Given the description of an element on the screen output the (x, y) to click on. 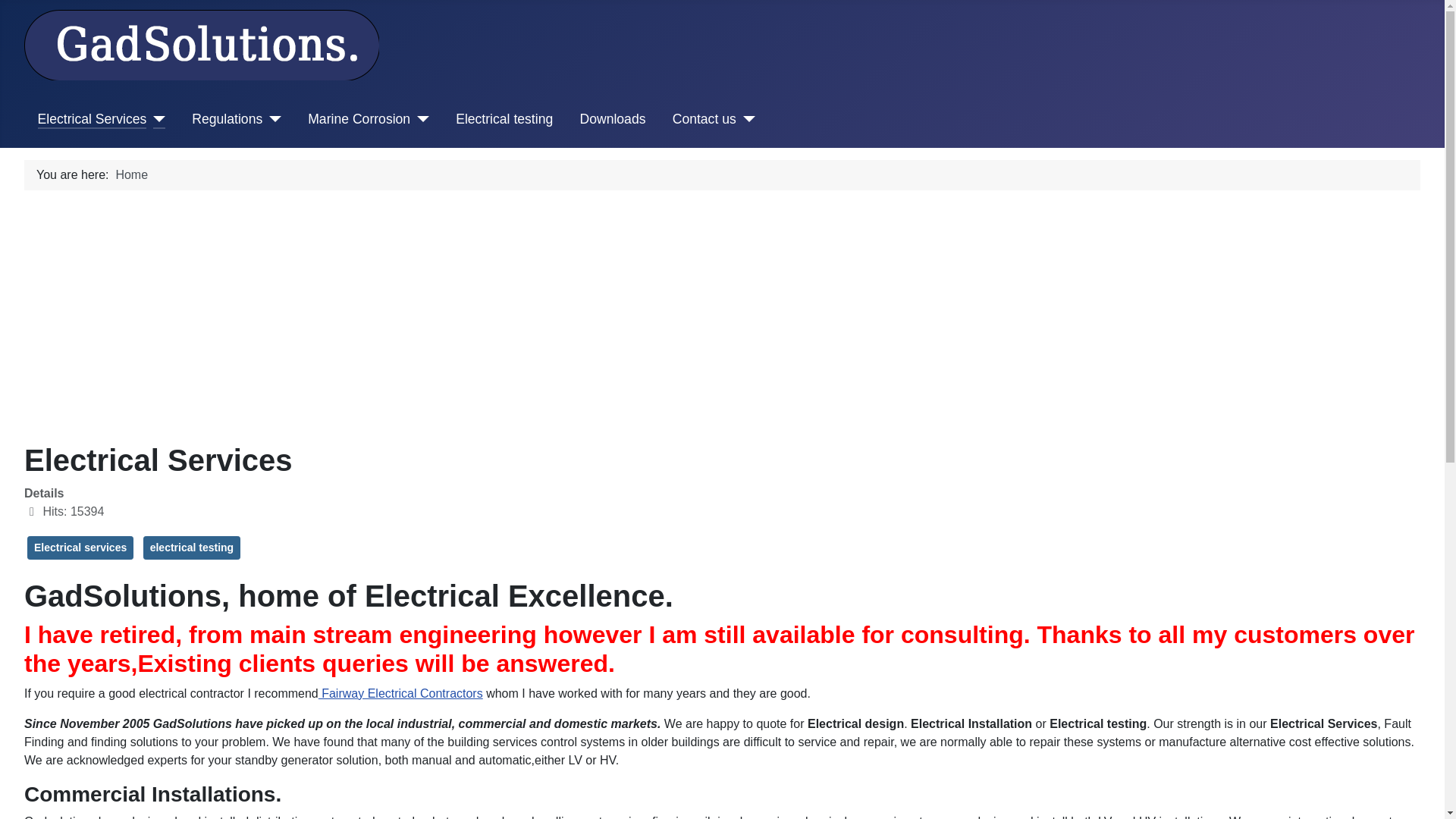
Electrical contractors in Sussex (400, 693)
Marine Corrosion (358, 118)
Regulations (227, 118)
Electrical testing (504, 118)
Electrical Services (92, 118)
Contact us (704, 118)
electrical testing (191, 547)
Downloads (612, 118)
Electrical services (80, 547)
Fairway Electrical Contractors (400, 693)
